Given the description of an element on the screen output the (x, y) to click on. 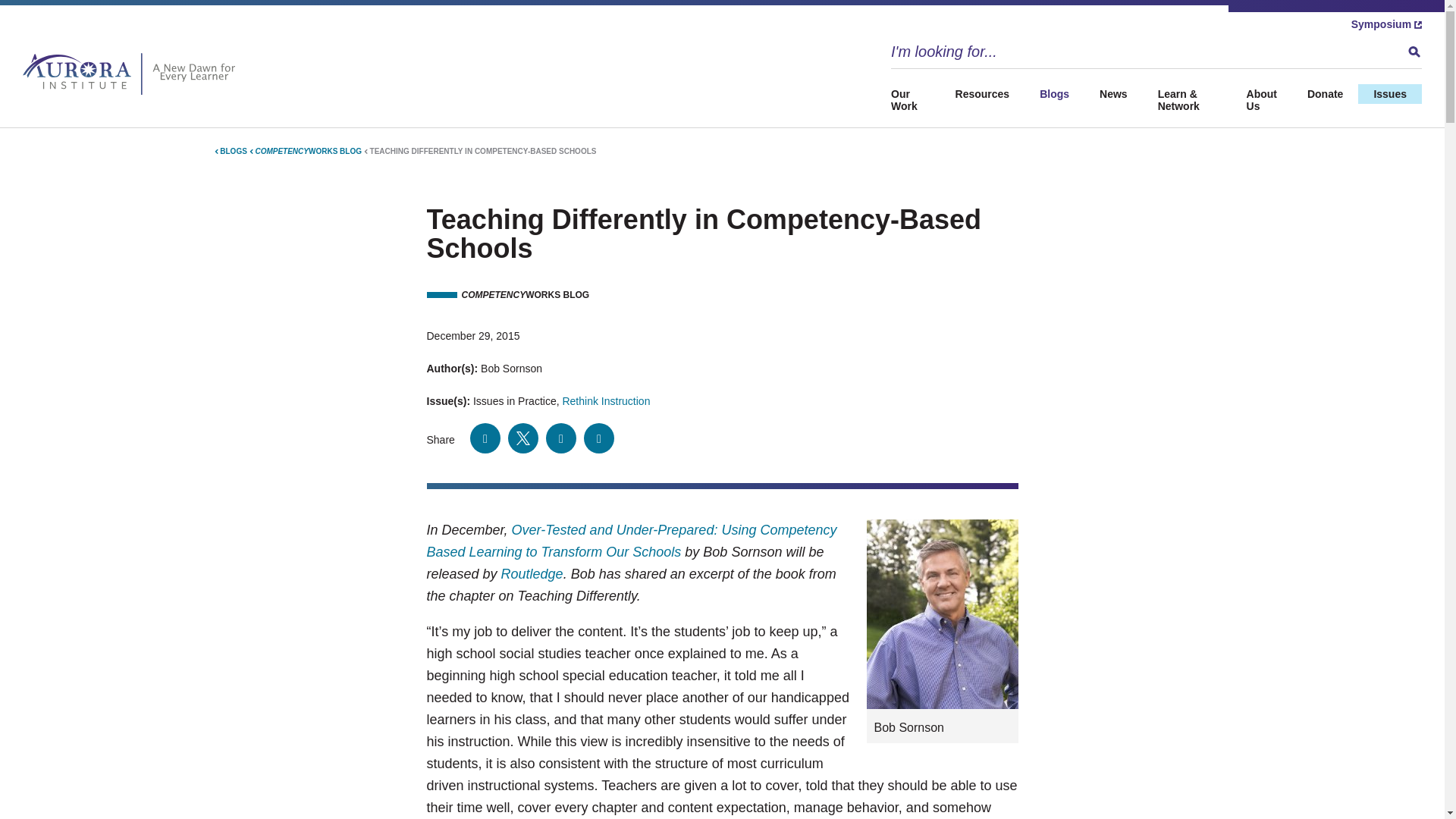
Resources (982, 94)
Submit (1414, 51)
Our Work (915, 100)
Aurora Institute (133, 74)
Blogs (1054, 94)
Symposium (1386, 24)
Submit (1414, 51)
News (1113, 94)
